Given the description of an element on the screen output the (x, y) to click on. 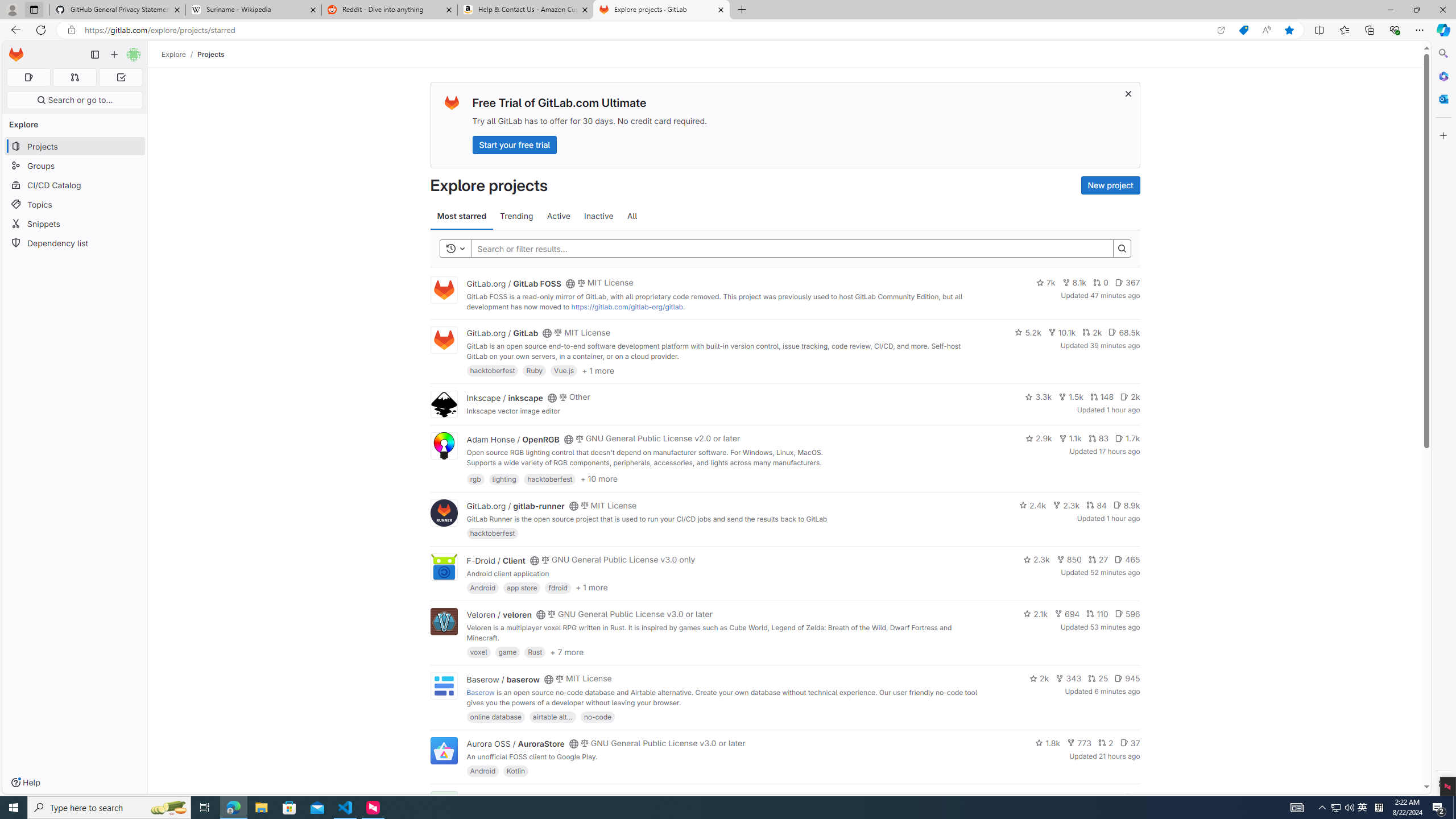
850 (1068, 559)
Suriname - Wikipedia (253, 9)
Rust (535, 651)
Baserow / baserow (502, 678)
110 (1097, 613)
lighting (504, 478)
Inactive (598, 216)
Topics (74, 203)
Baserow (480, 691)
